Given the description of an element on the screen output the (x, y) to click on. 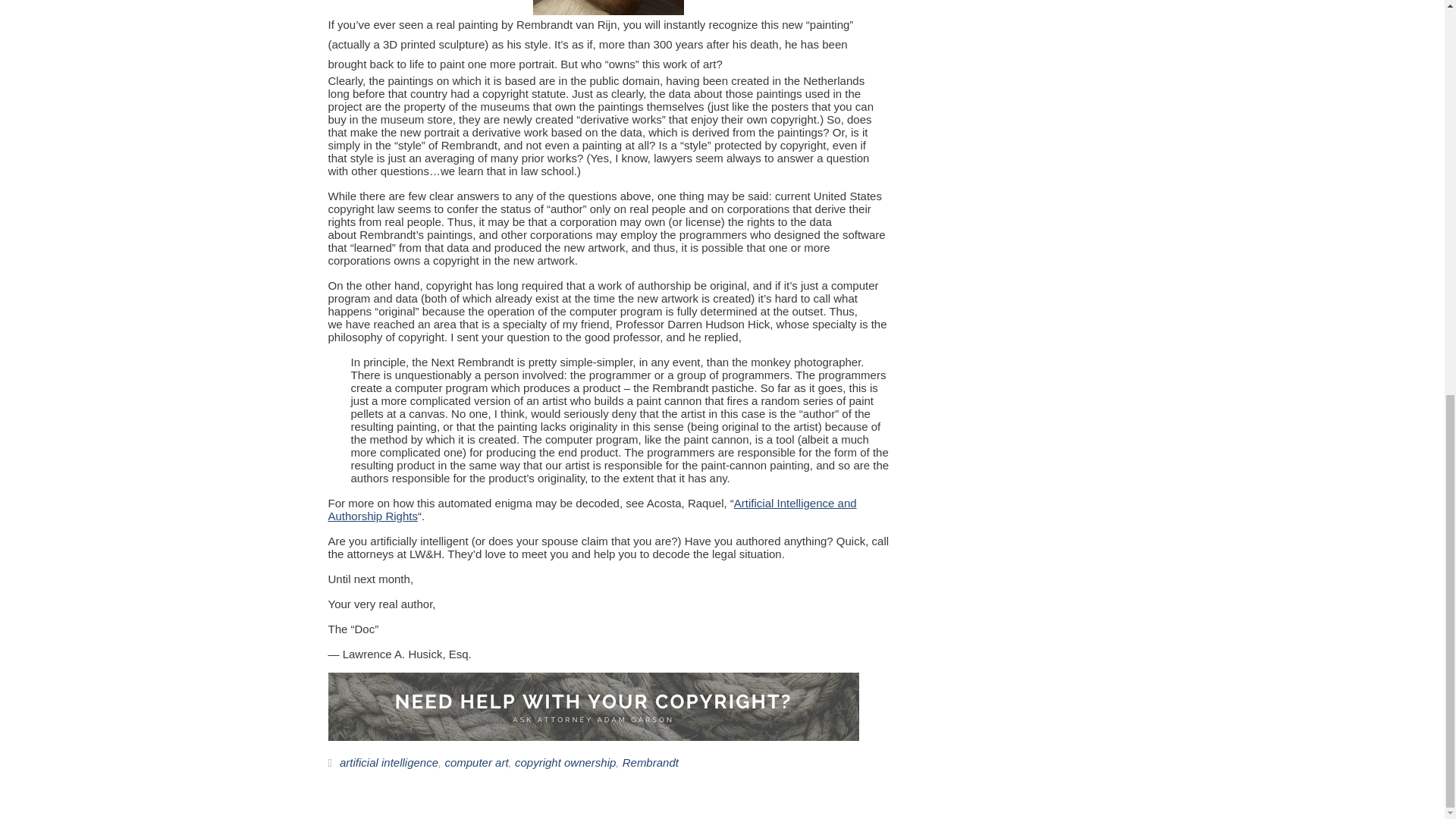
copyright ownership (565, 762)
artificial intelligence (388, 762)
computer art (476, 762)
Rembrandt (650, 762)
Artificial Intelligence and Authorship Rights (591, 509)
